Given the description of an element on the screen output the (x, y) to click on. 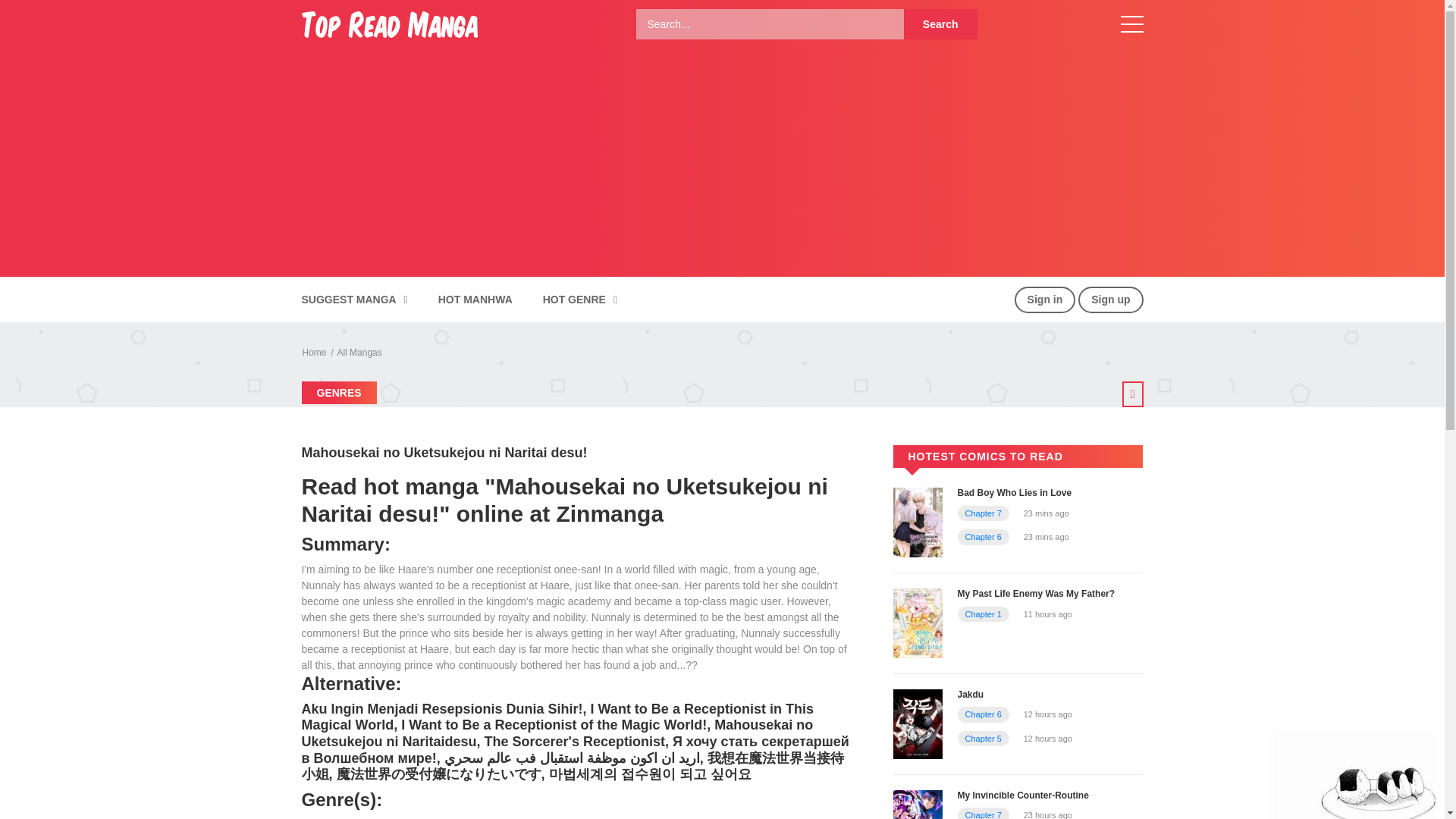
My Past Life Enemy Was My Father? (1035, 593)
Sign up (1110, 299)
Bad Boy Who Lies in Love (1013, 492)
My Invincible Counter-Routine (917, 818)
All Mangas (358, 352)
Bad Boy Who Lies in Love (917, 521)
TOP READ MANGA (389, 23)
SUGGEST MANGA (353, 299)
Sign in (1044, 299)
Jakdu (917, 723)
HOT MANHWA (475, 299)
My Past Life Enemy Was My Father? (917, 622)
My Invincible Counter-Routine (1021, 795)
Search (940, 24)
